Given the description of an element on the screen output the (x, y) to click on. 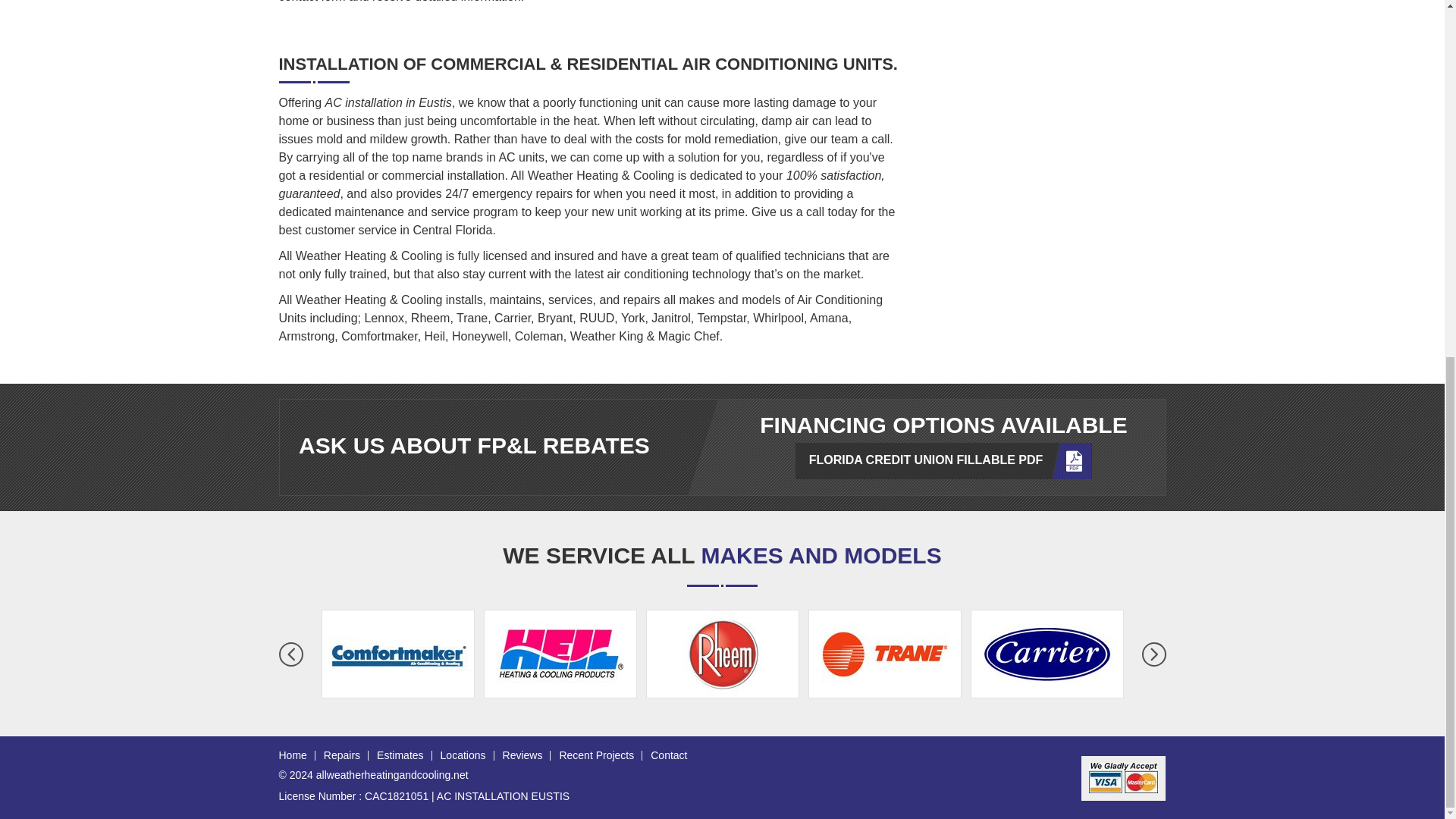
Request a Quote (1041, 144)
Home (293, 755)
FLORIDA CREDIT UNION FILLABLE PDF (943, 461)
Repairs (341, 755)
